Given the description of an element on the screen output the (x, y) to click on. 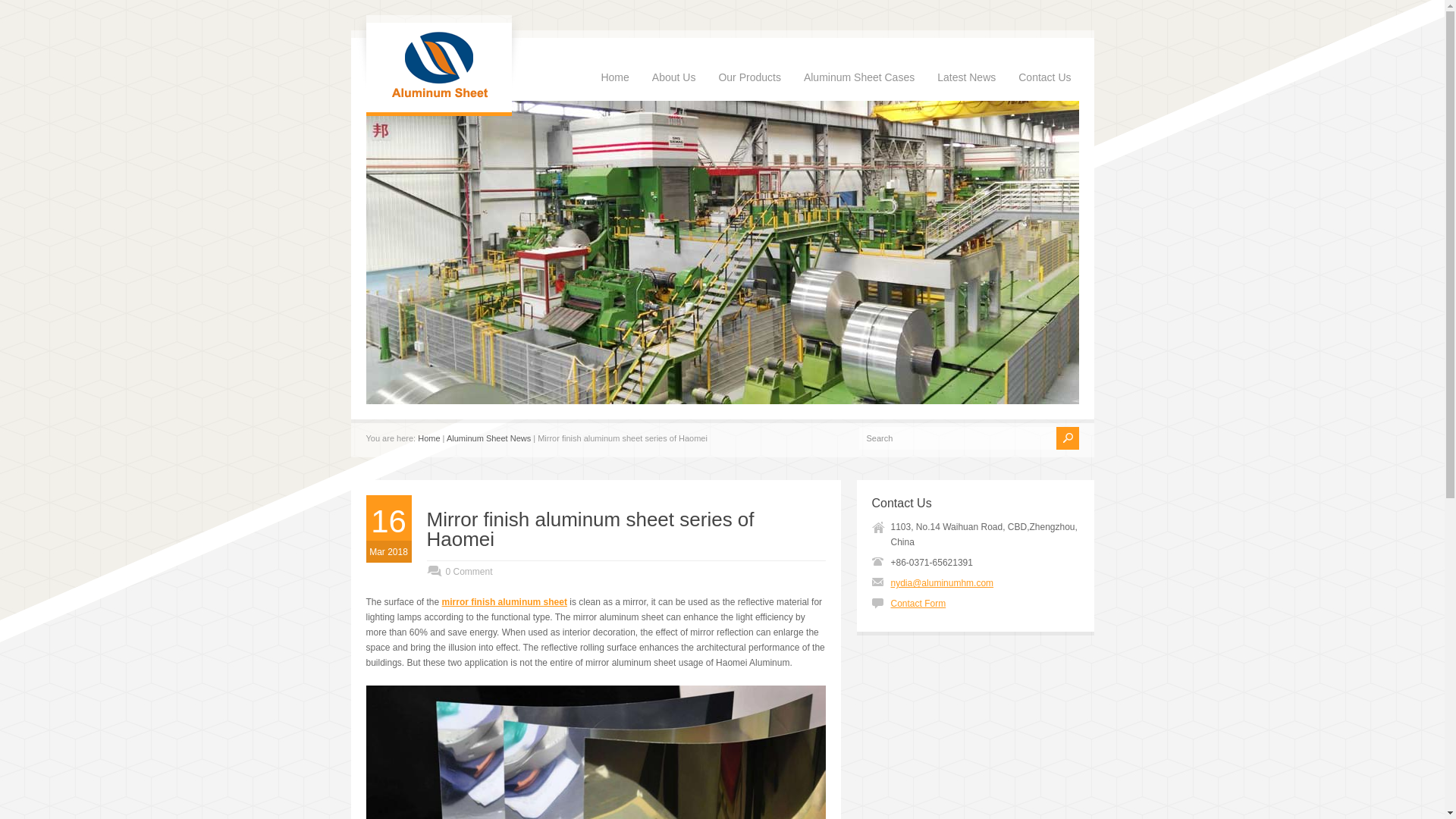
Search (957, 437)
Aluminum Sheet Cases (858, 60)
Our Products (748, 60)
Mirror finish aluminum sheet series of Haomei (590, 528)
mirror finish aluminum sheet (504, 602)
Mirror finish aluminum sheet series of Haomei (590, 528)
Aluminum Sheet News (488, 438)
Latest News (966, 60)
Search (957, 437)
0 Comment (459, 571)
About Us (674, 60)
Home (428, 438)
Contact Us (1044, 60)
Contact Form (916, 603)
Contact Form (916, 603)
